Given the description of an element on the screen output the (x, y) to click on. 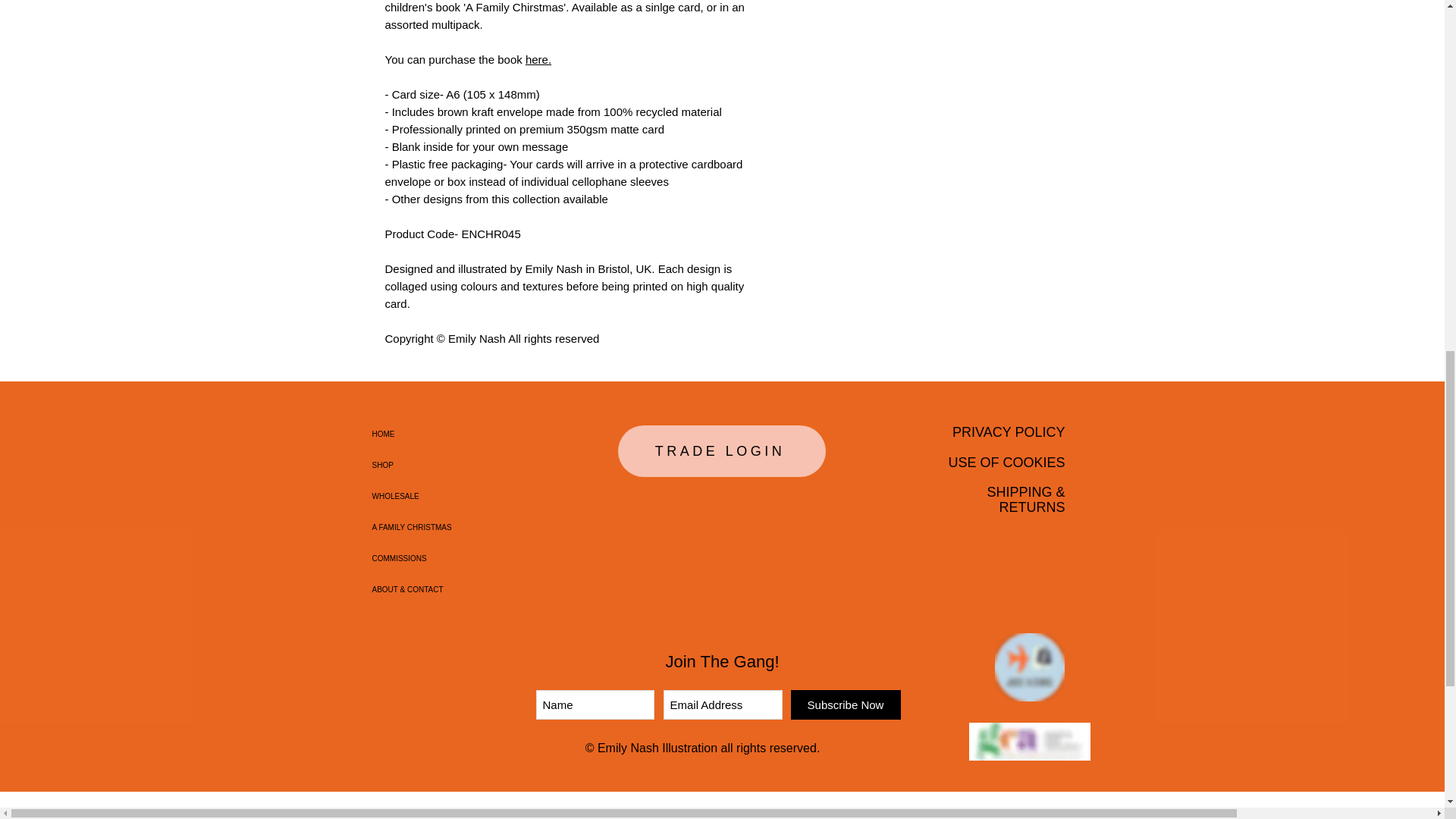
here. (538, 59)
